Given the description of an element on the screen output the (x, y) to click on. 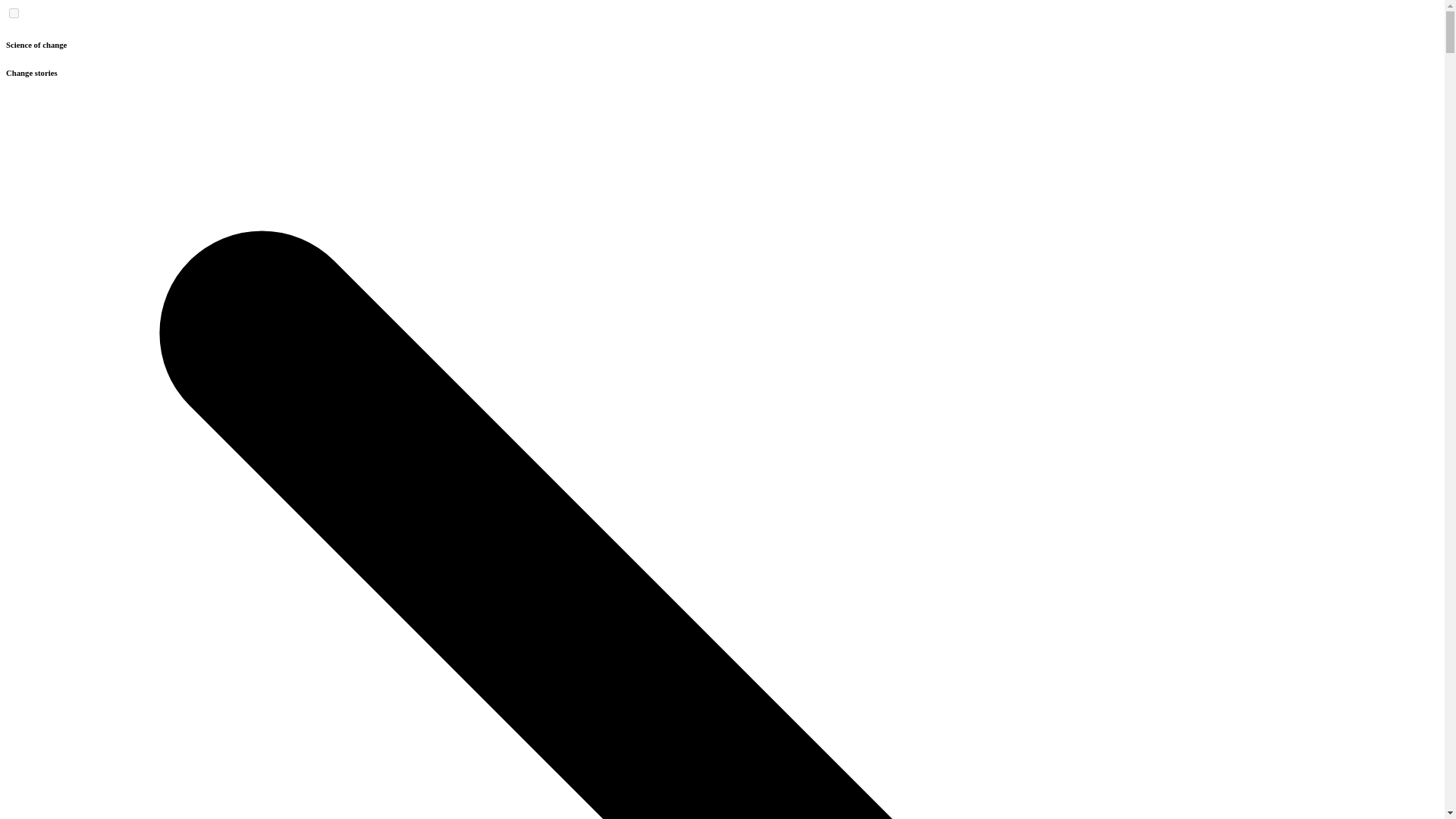
on (13, 13)
